Given the description of an element on the screen output the (x, y) to click on. 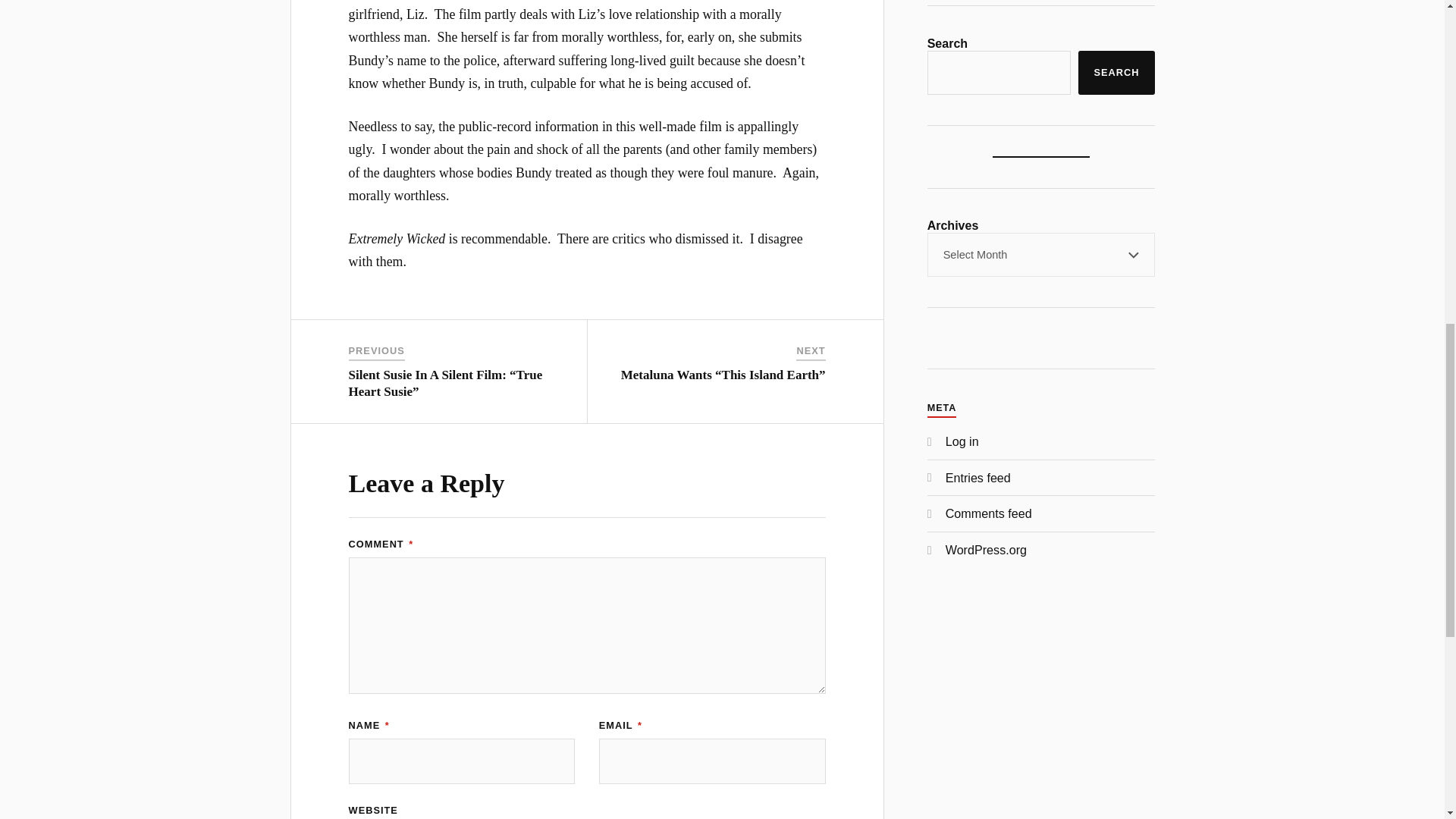
Entries feed (977, 477)
WordPress.org (985, 549)
Comments feed (988, 513)
Log in (961, 440)
SEARCH (1116, 72)
